Given the description of an element on the screen output the (x, y) to click on. 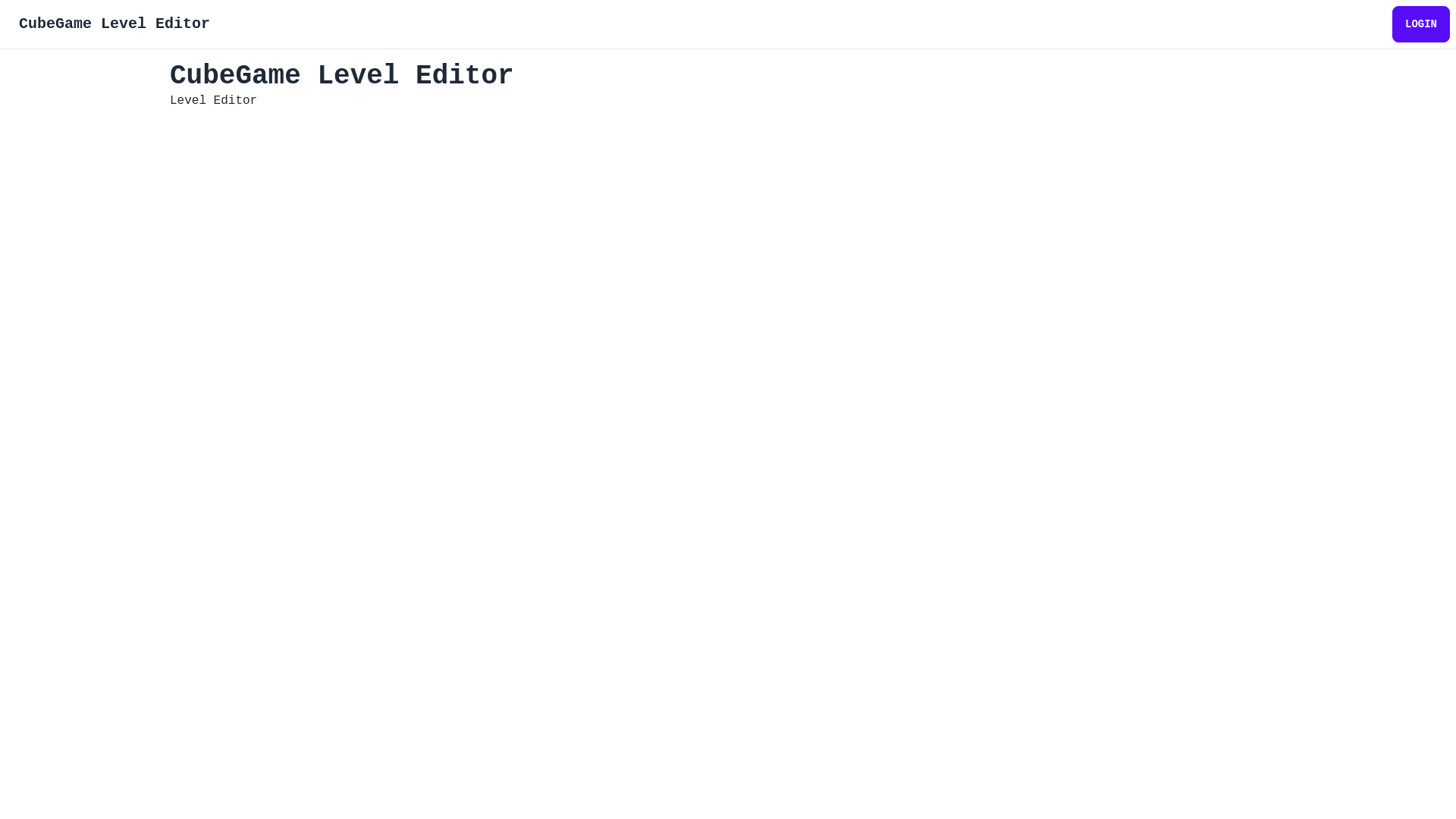
LOGIN Element type: text (1420, 24)
CubeGame Level Editor Element type: text (114, 24)
